Given the description of an element on the screen output the (x, y) to click on. 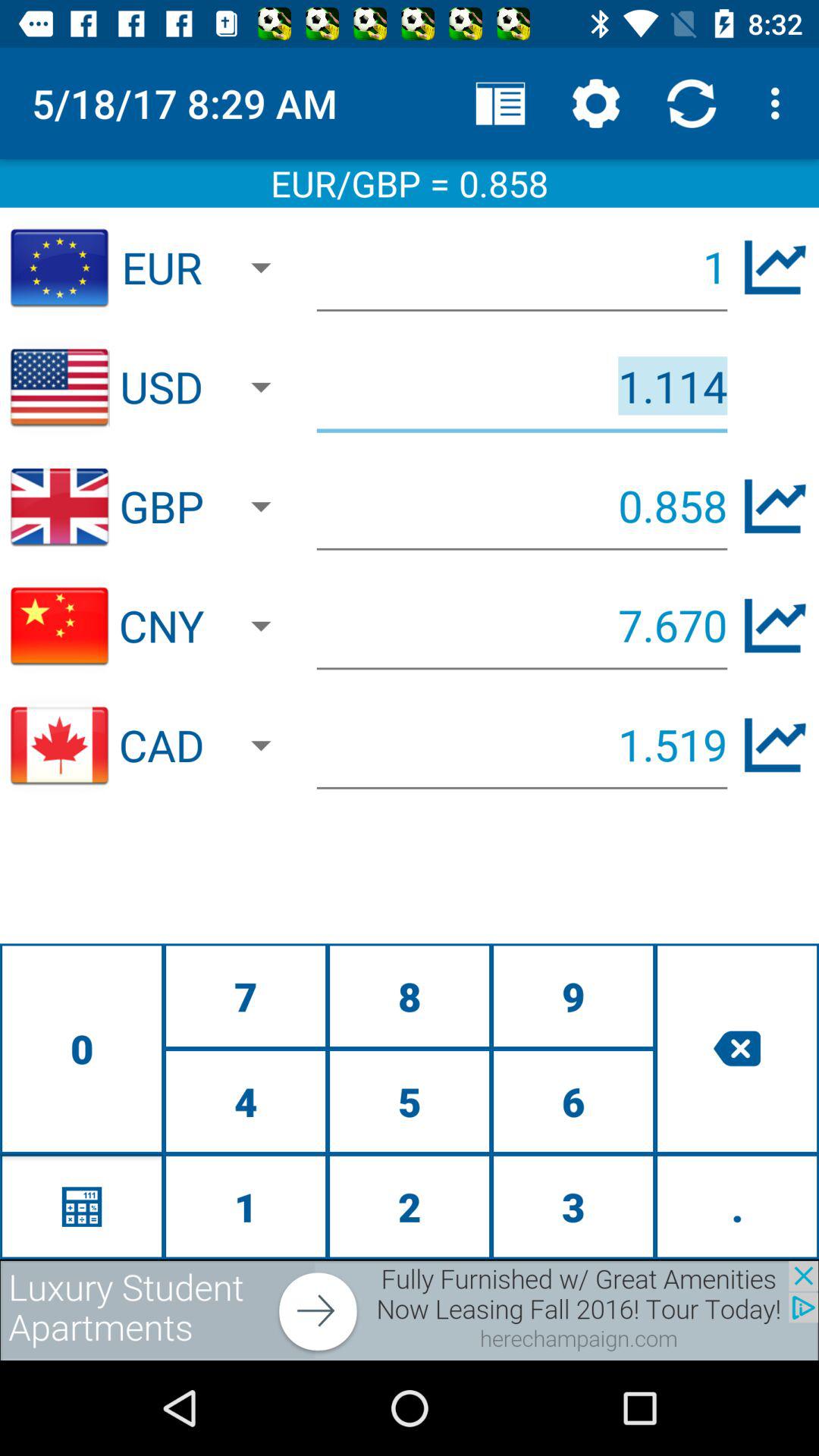
calculator icon (81, 1206)
